Given the description of an element on the screen output the (x, y) to click on. 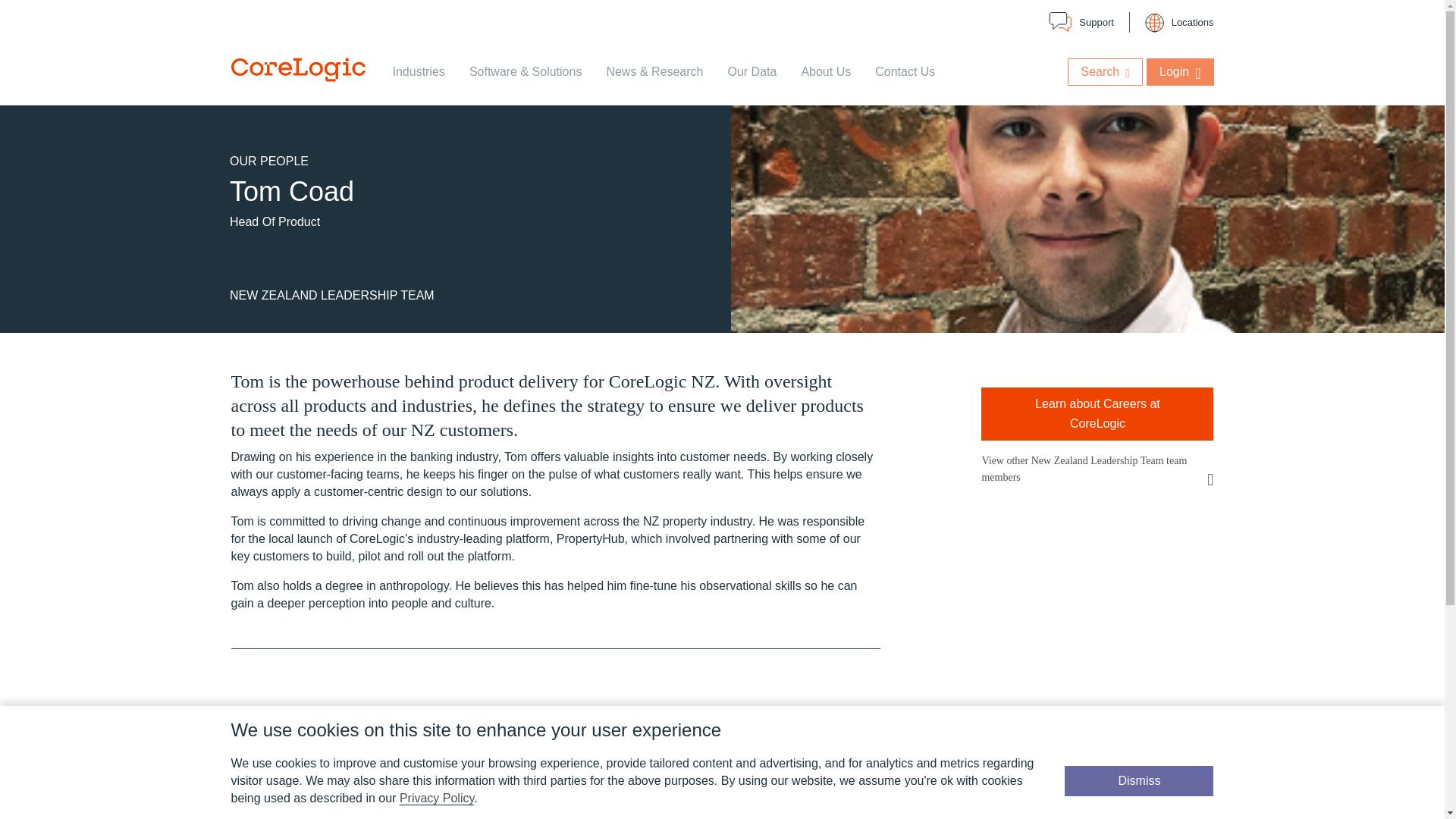
Industries (419, 71)
Support (1080, 22)
Locations (1179, 21)
